Given the description of an element on the screen output the (x, y) to click on. 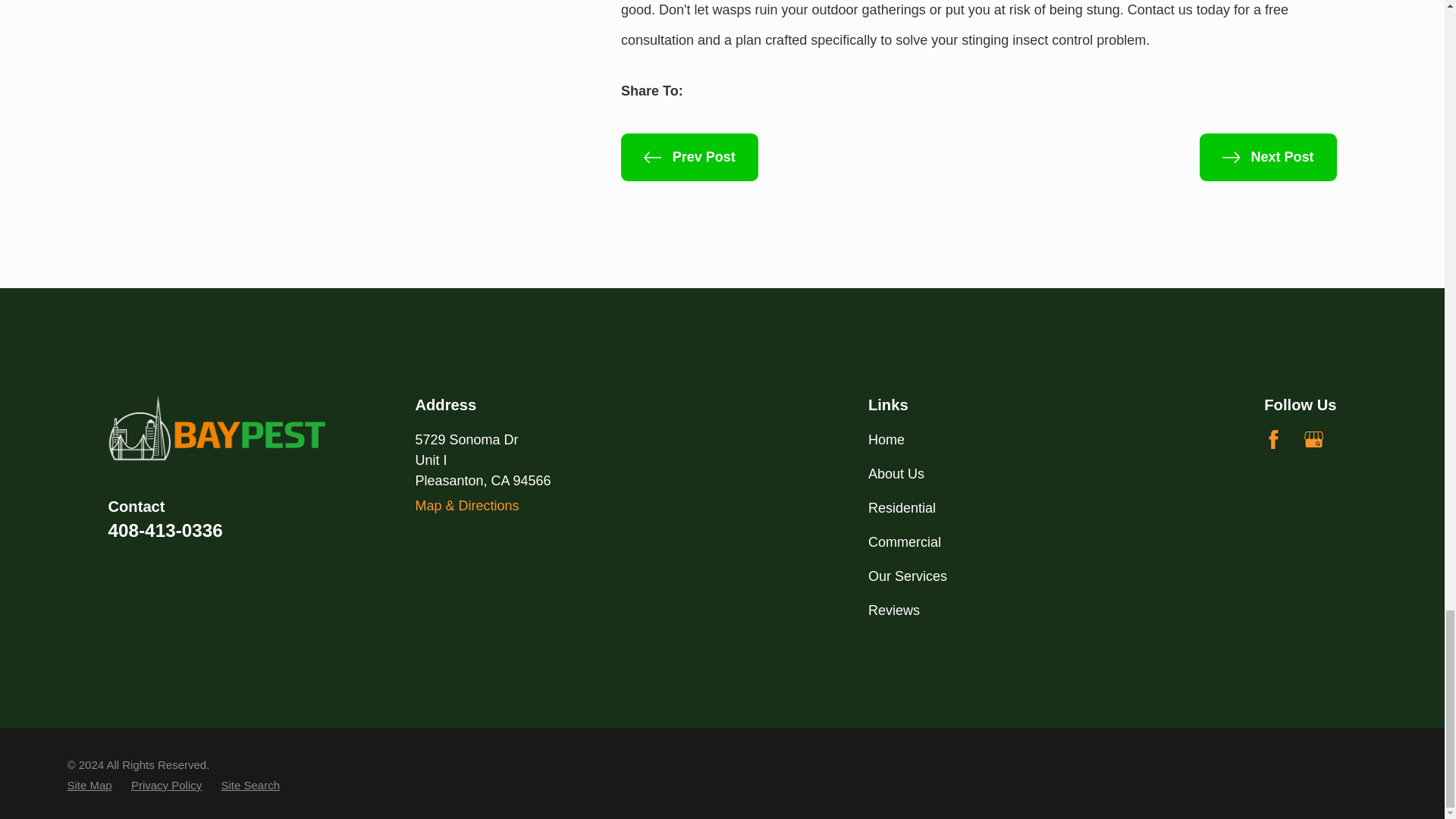
Google Business Profile (1313, 438)
Home (216, 428)
Facebook (1272, 438)
